Given the description of an element on the screen output the (x, y) to click on. 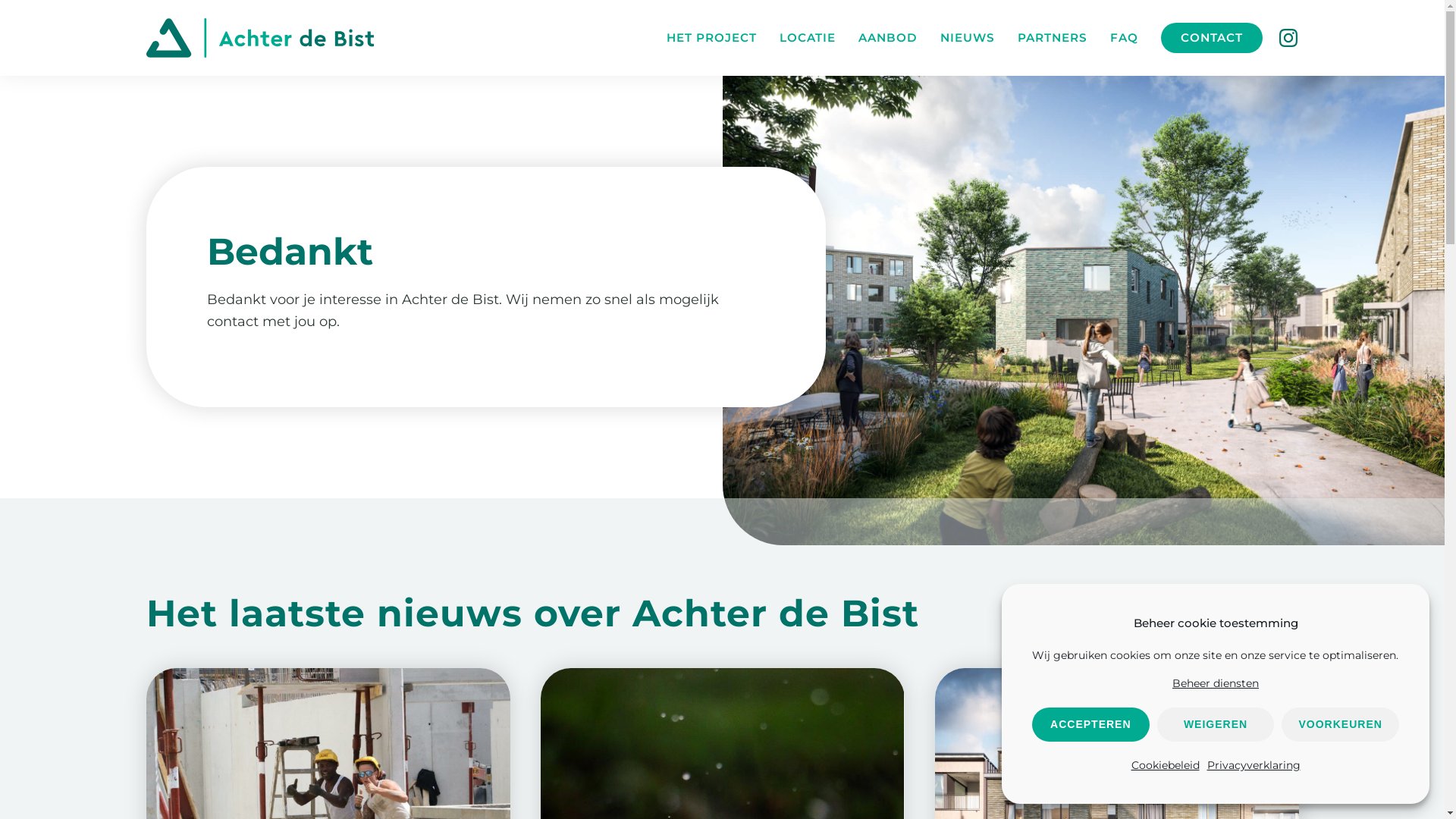
VOORKEUREN Element type: text (1340, 724)
NIEUWS Element type: text (967, 37)
PARTNERS Element type: text (1052, 37)
FAQ Element type: text (1124, 37)
Beheer diensten Element type: text (1215, 682)
WEIGEREN Element type: text (1215, 724)
LOCATIE Element type: text (807, 37)
Privacyverklaring Element type: text (1253, 764)
CONTACT Element type: text (1211, 37)
Cookiebeleid Element type: text (1165, 764)
HET PROJECT Element type: text (711, 37)
AANBOD Element type: text (887, 37)
ACCEPTEREN Element type: text (1090, 724)
